Given the description of an element on the screen output the (x, y) to click on. 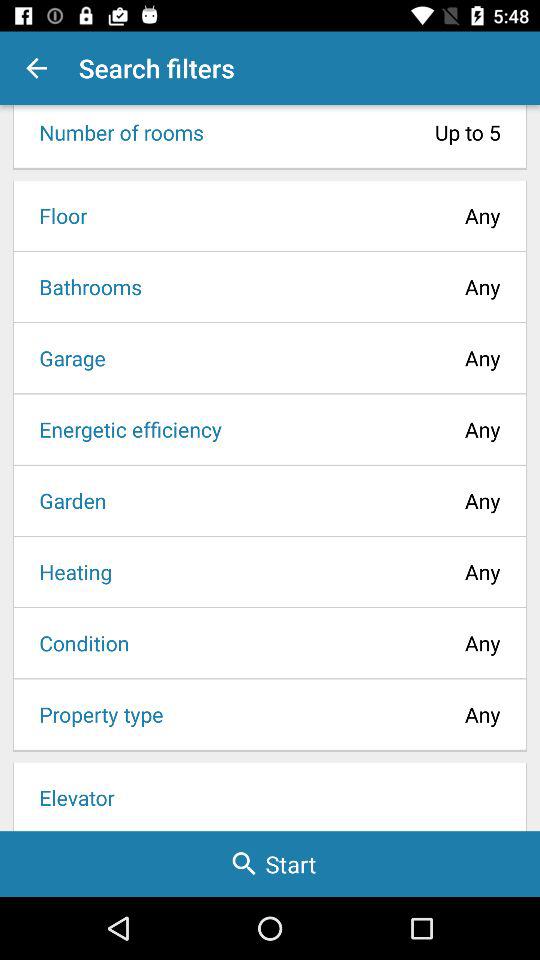
turn off icon to the left of any icon (84, 286)
